Given the description of an element on the screen output the (x, y) to click on. 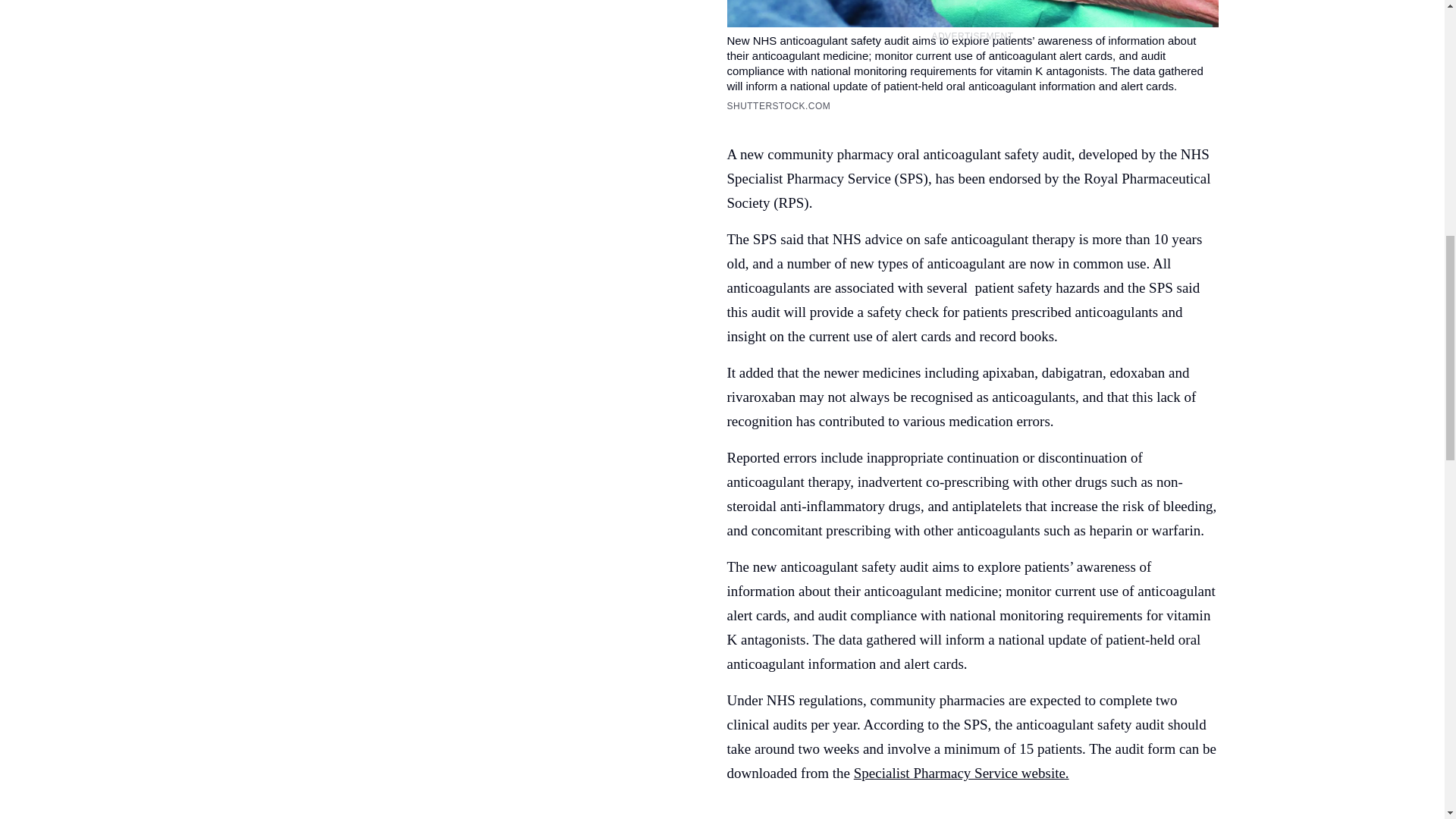
National community pharmacy oral anticoagulant safety audit (960, 772)
